Given the description of an element on the screen output the (x, y) to click on. 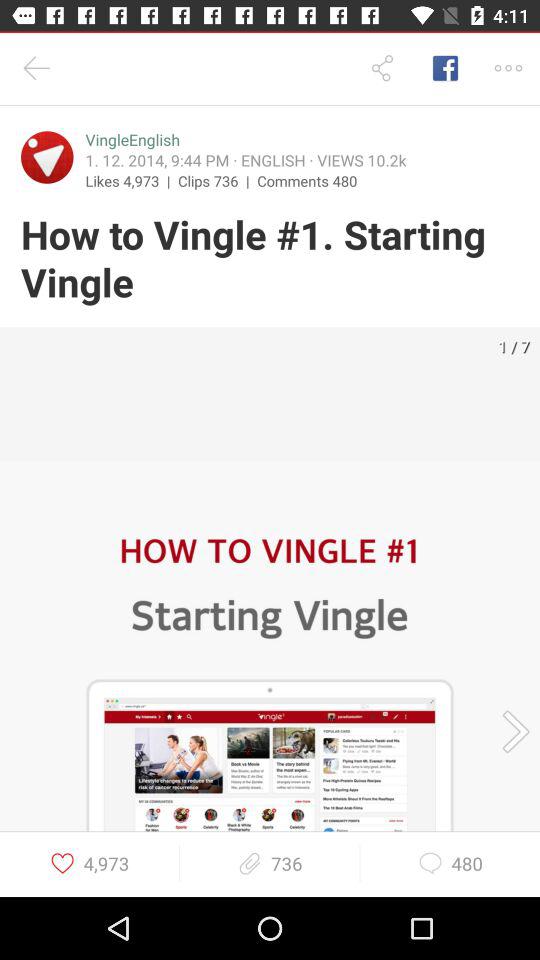
forward to next screen (509, 731)
